Given the description of an element on the screen output the (x, y) to click on. 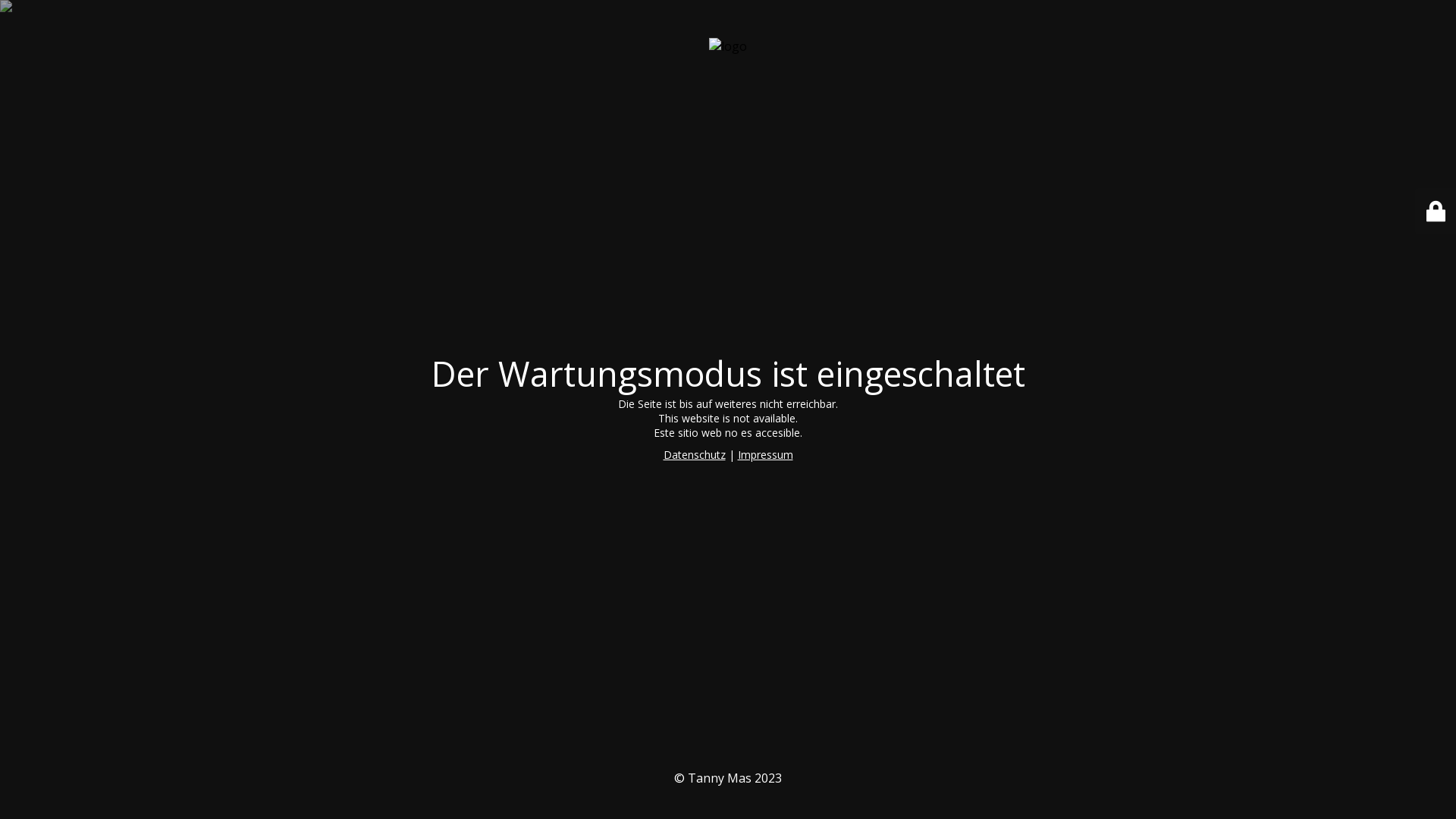
Datenschutz Element type: text (693, 454)
Impressum Element type: text (764, 454)
